Given the description of an element on the screen output the (x, y) to click on. 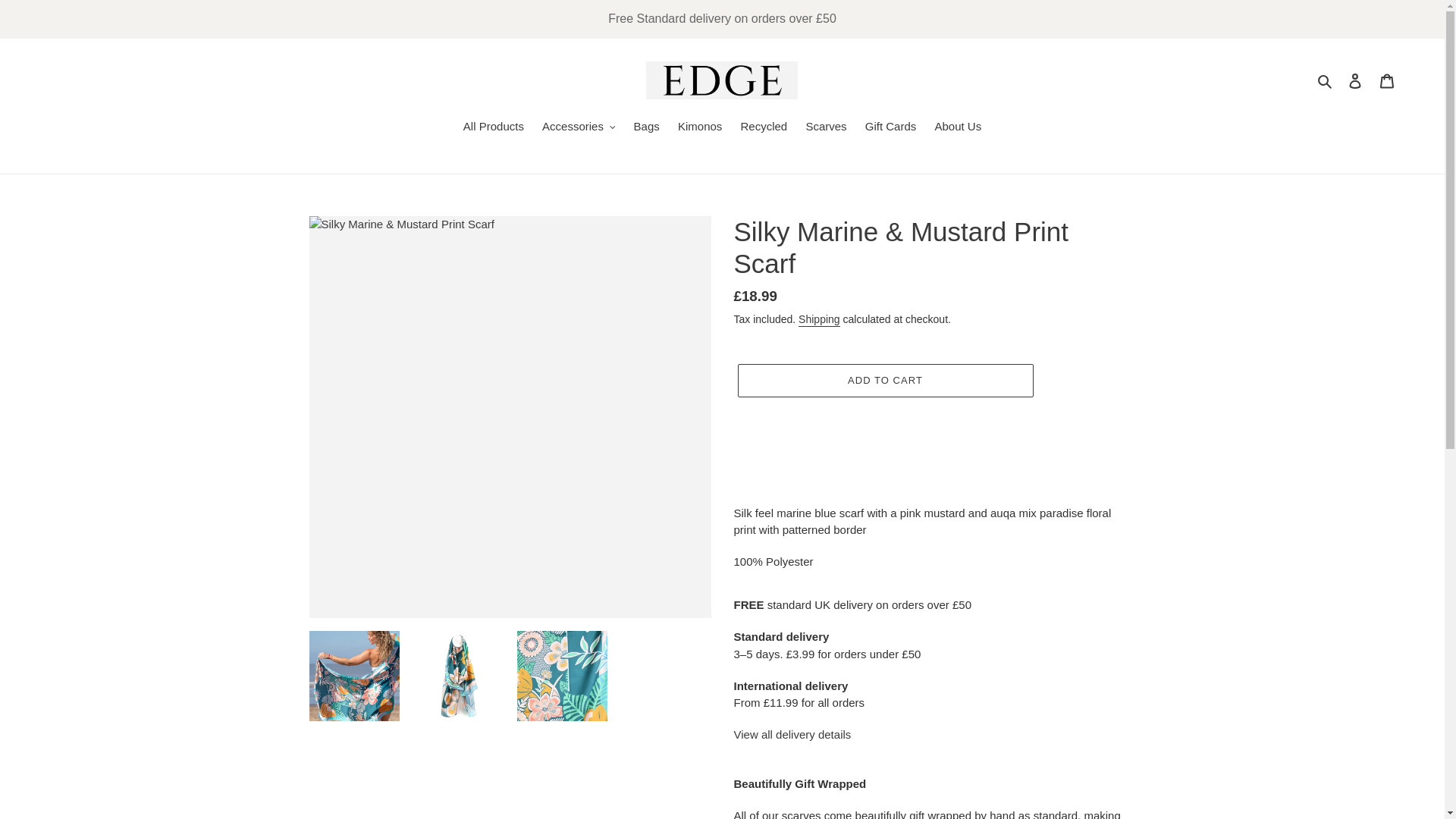
Bags (646, 127)
Gift Cards (890, 127)
All Products (493, 127)
Shipping (818, 319)
Scarves (825, 127)
About Us (957, 127)
ADD TO CART (884, 380)
Recycled (763, 127)
Kimonos (699, 127)
Cart (1387, 80)
